Given the description of an element on the screen output the (x, y) to click on. 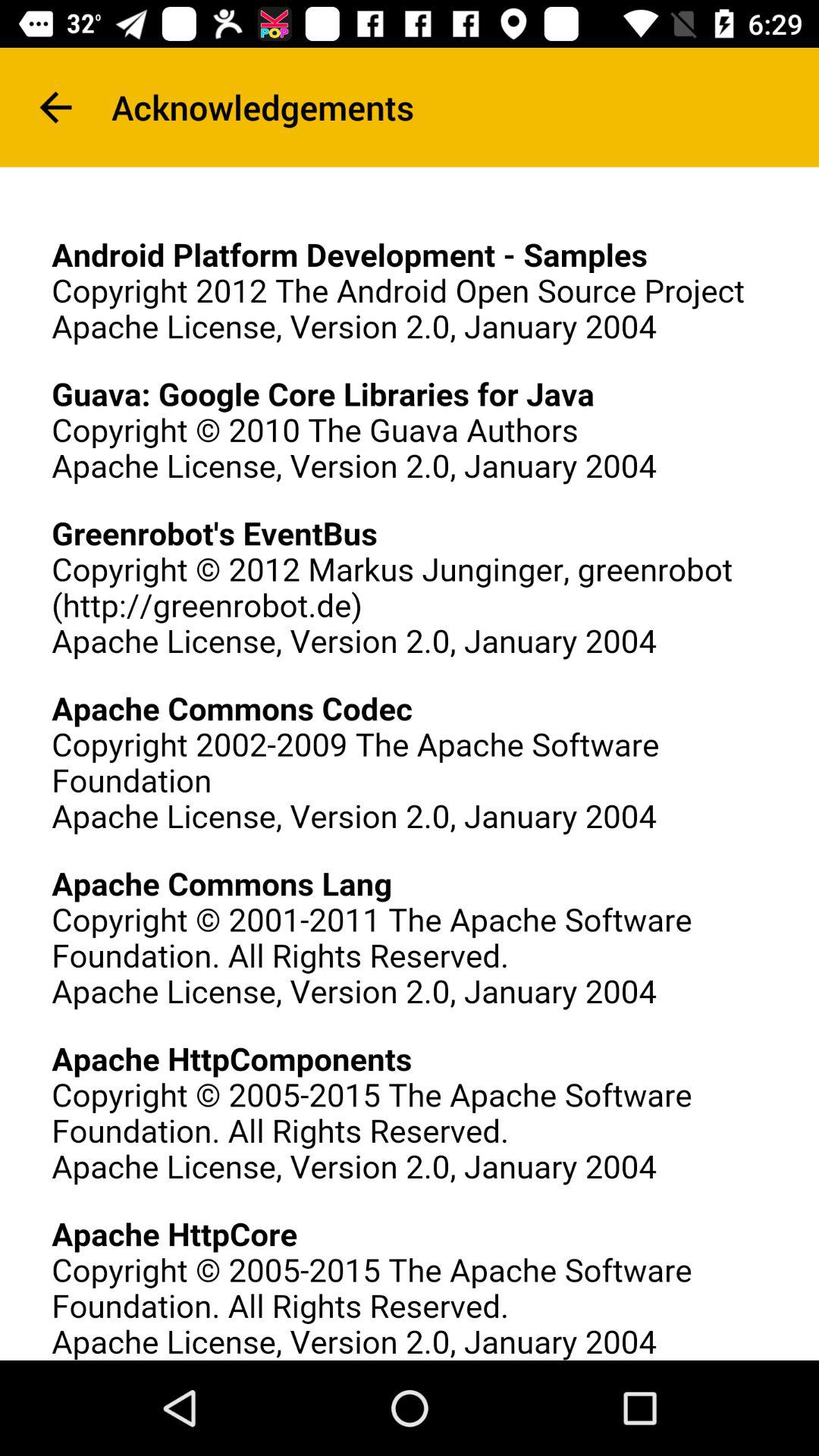
launch item at the center (409, 763)
